Given the description of an element on the screen output the (x, y) to click on. 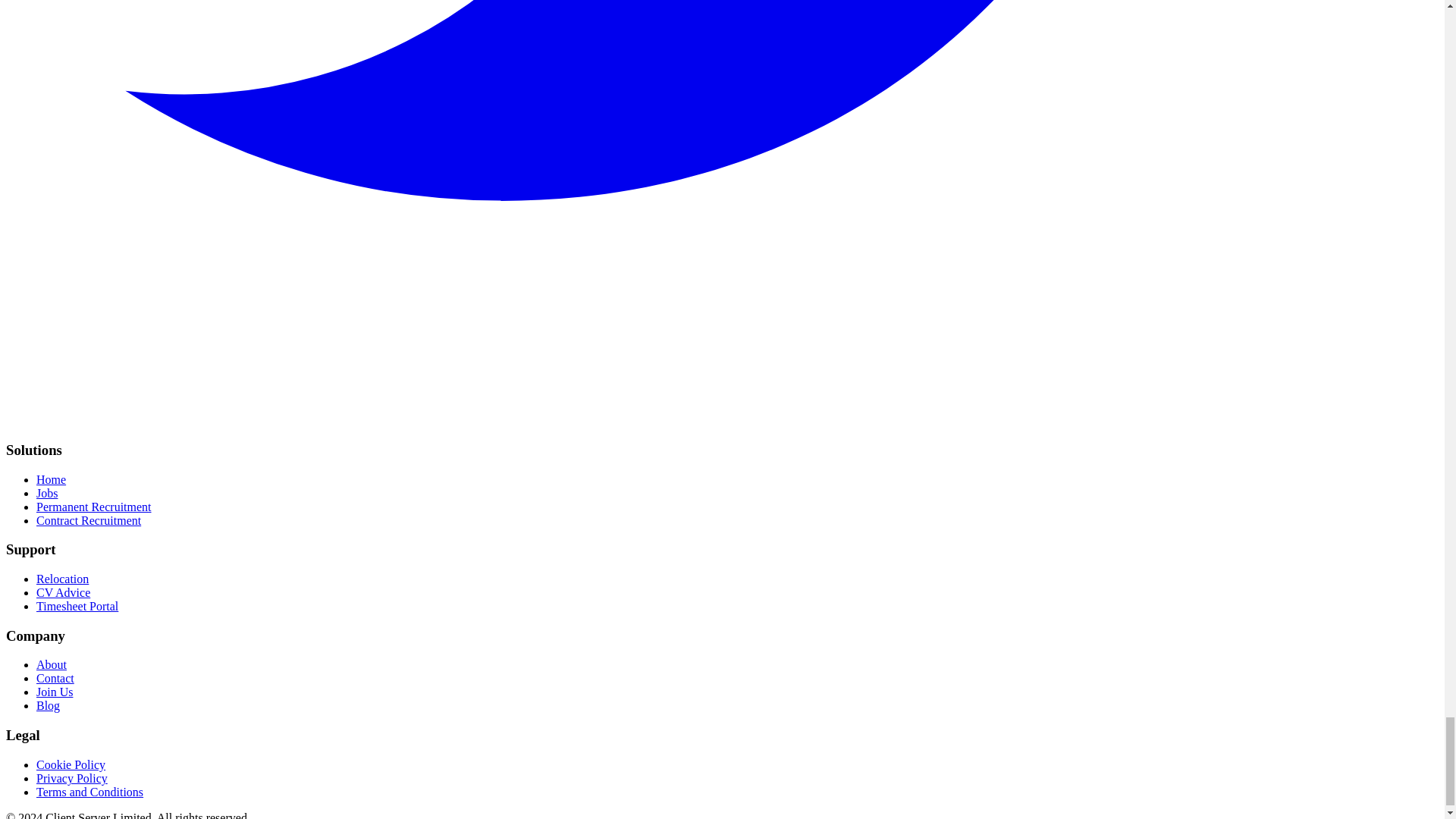
Home (50, 479)
Relocation (62, 578)
About (51, 664)
Join Us (54, 691)
Jobs (47, 492)
Blog (47, 705)
Terms and Conditions (89, 791)
Contract Recruitment (88, 520)
Cookie Policy (70, 764)
CV Advice (63, 592)
Permanent Recruitment (93, 506)
Timesheet Portal (76, 605)
Contact (55, 677)
Privacy Policy (71, 778)
